Given the description of an element on the screen output the (x, y) to click on. 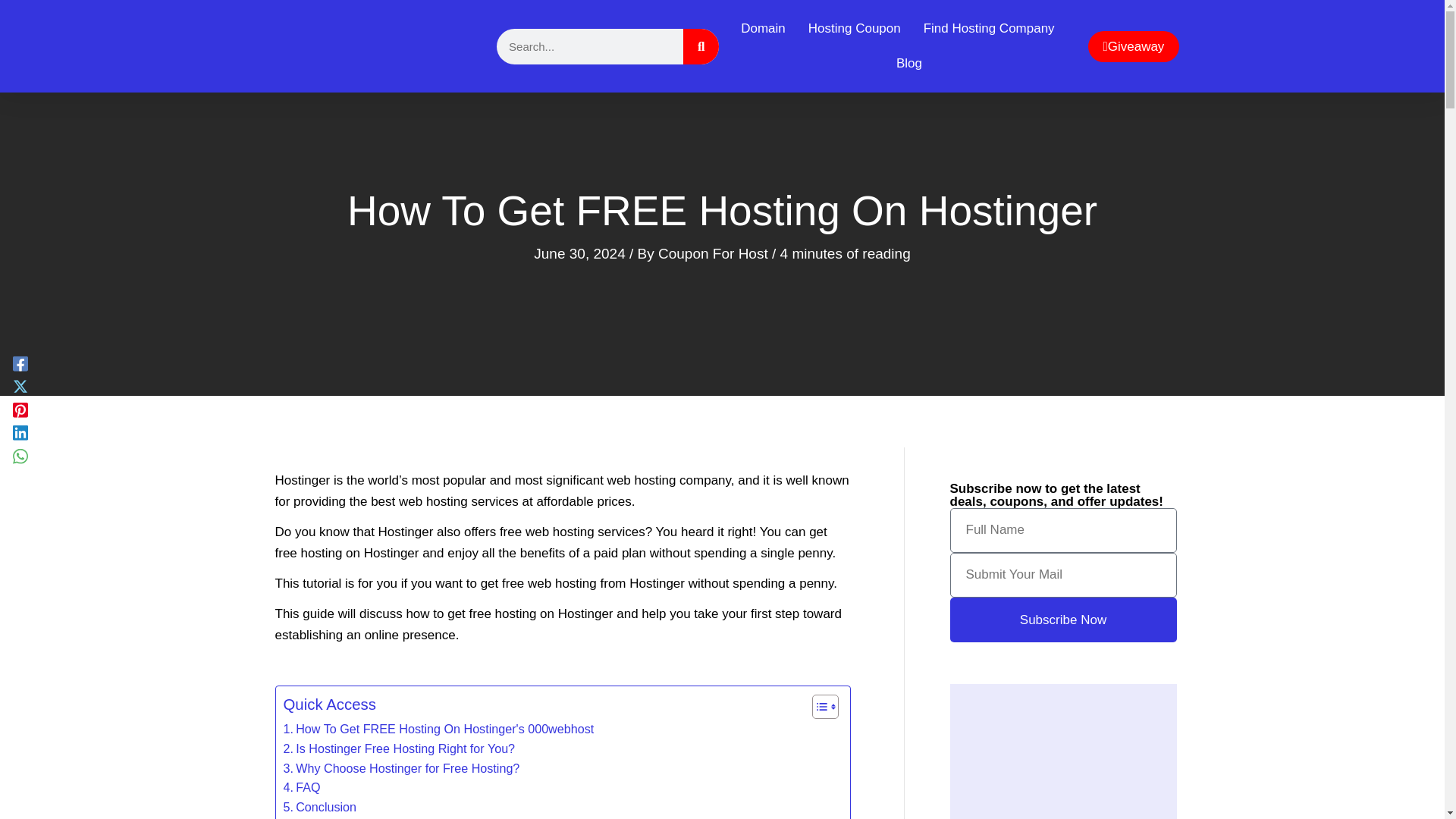
Domain (763, 28)
Why Choose Hostinger for Free Hosting? (401, 768)
View all posts by Coupon For Host (714, 253)
Giveaway (1133, 45)
Conclusion (319, 807)
FAQ (301, 787)
Find Hosting Company (988, 28)
FAQ (301, 787)
Search (700, 46)
Why Choose Hostinger for Free Hosting? (401, 768)
Coupon For Host (714, 253)
How To Get FREE Hosting On Hostinger's 000webhost (438, 729)
How To Get FREE Hosting On Hostinger's 000webhost (438, 729)
Is Hostinger Free Hosting Right for You? (399, 749)
Conclusion (319, 807)
